Given the description of an element on the screen output the (x, y) to click on. 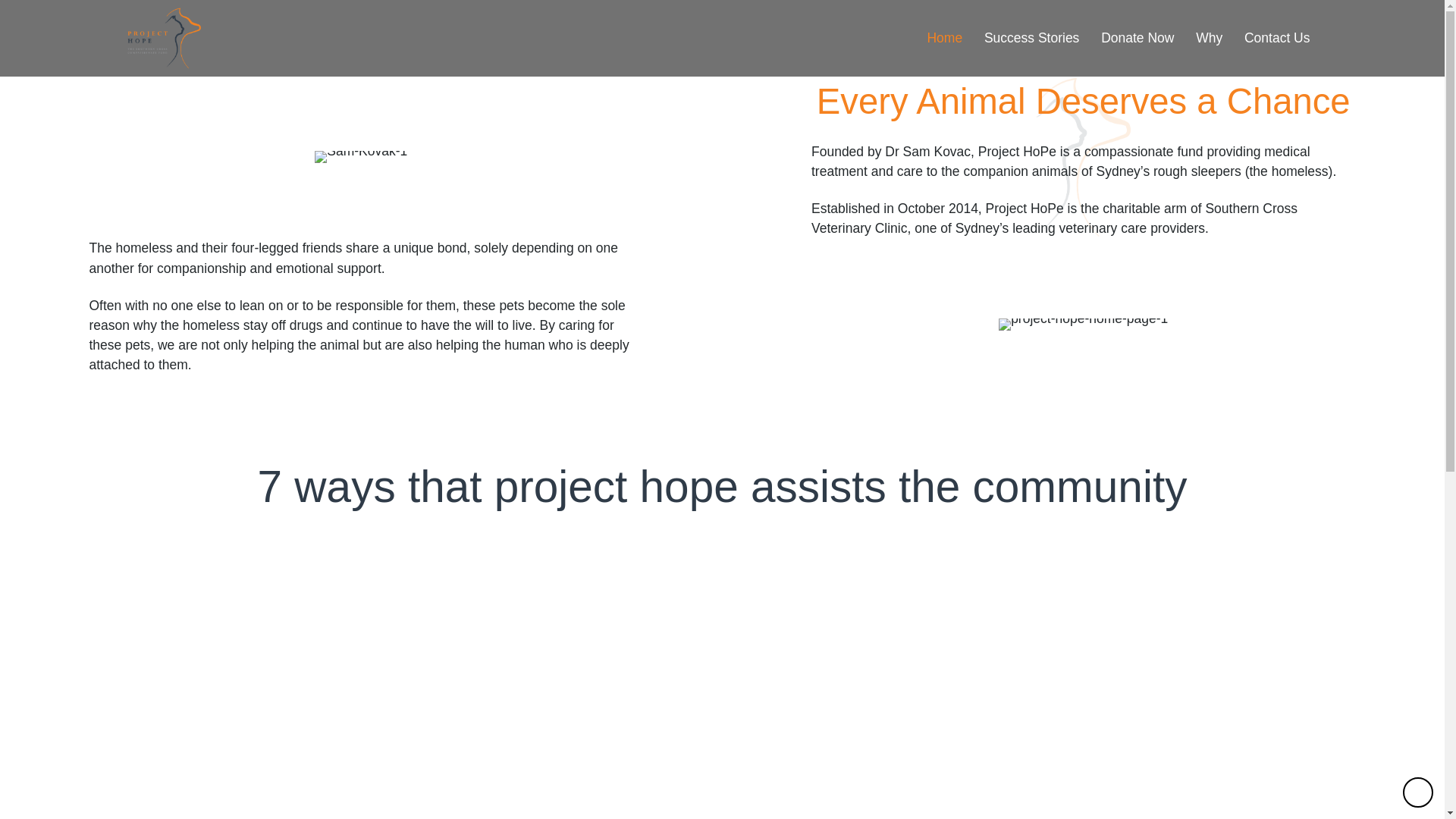
Contact Us Element type: text (1273, 37)
Scroll To Top Element type: text (1417, 792)
Why Element type: text (1205, 37)
Home Element type: text (941, 37)
Success Stories Element type: text (1027, 37)
project-hope-home-page-1 Element type: hover (1082, 324)
Project-Hope-Logo-Header-r2 Element type: hover (164, 38)
Donate Now Element type: text (1133, 37)
Sam-Kovak-1 Element type: hover (360, 156)
